Given the description of an element on the screen output the (x, y) to click on. 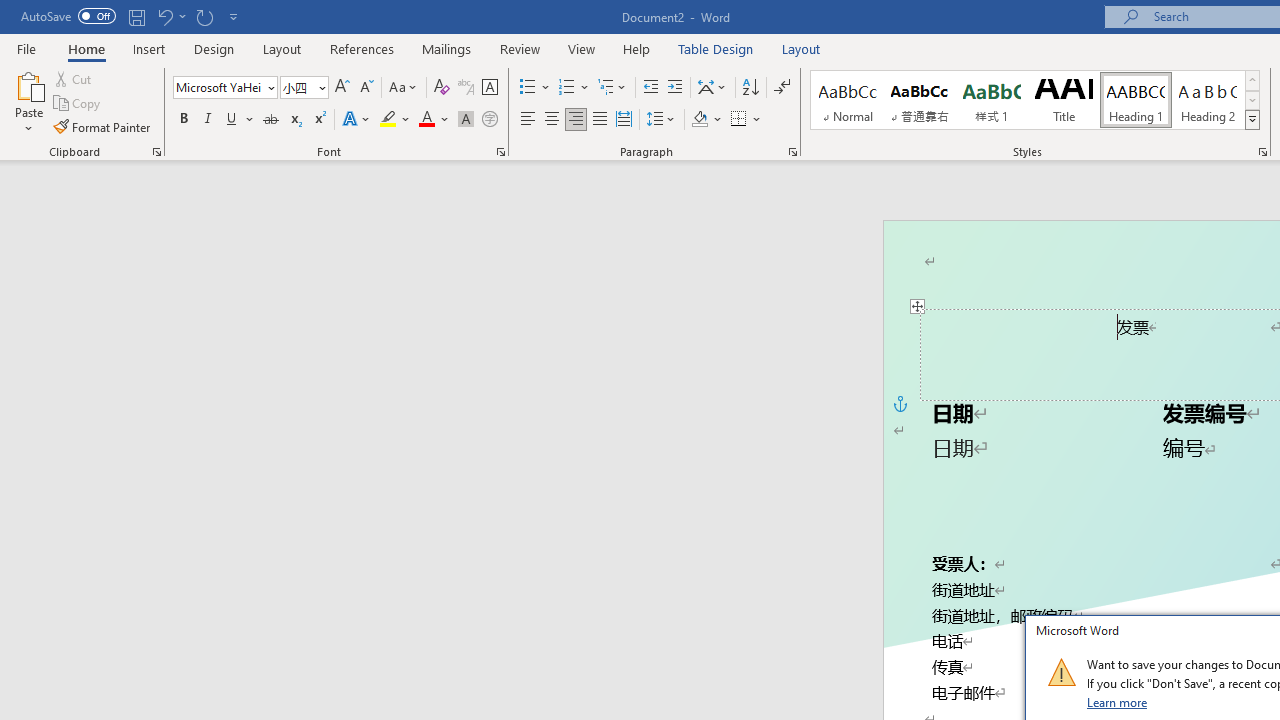
Font Color RGB(255, 0, 0) (426, 119)
